Given the description of an element on the screen output the (x, y) to click on. 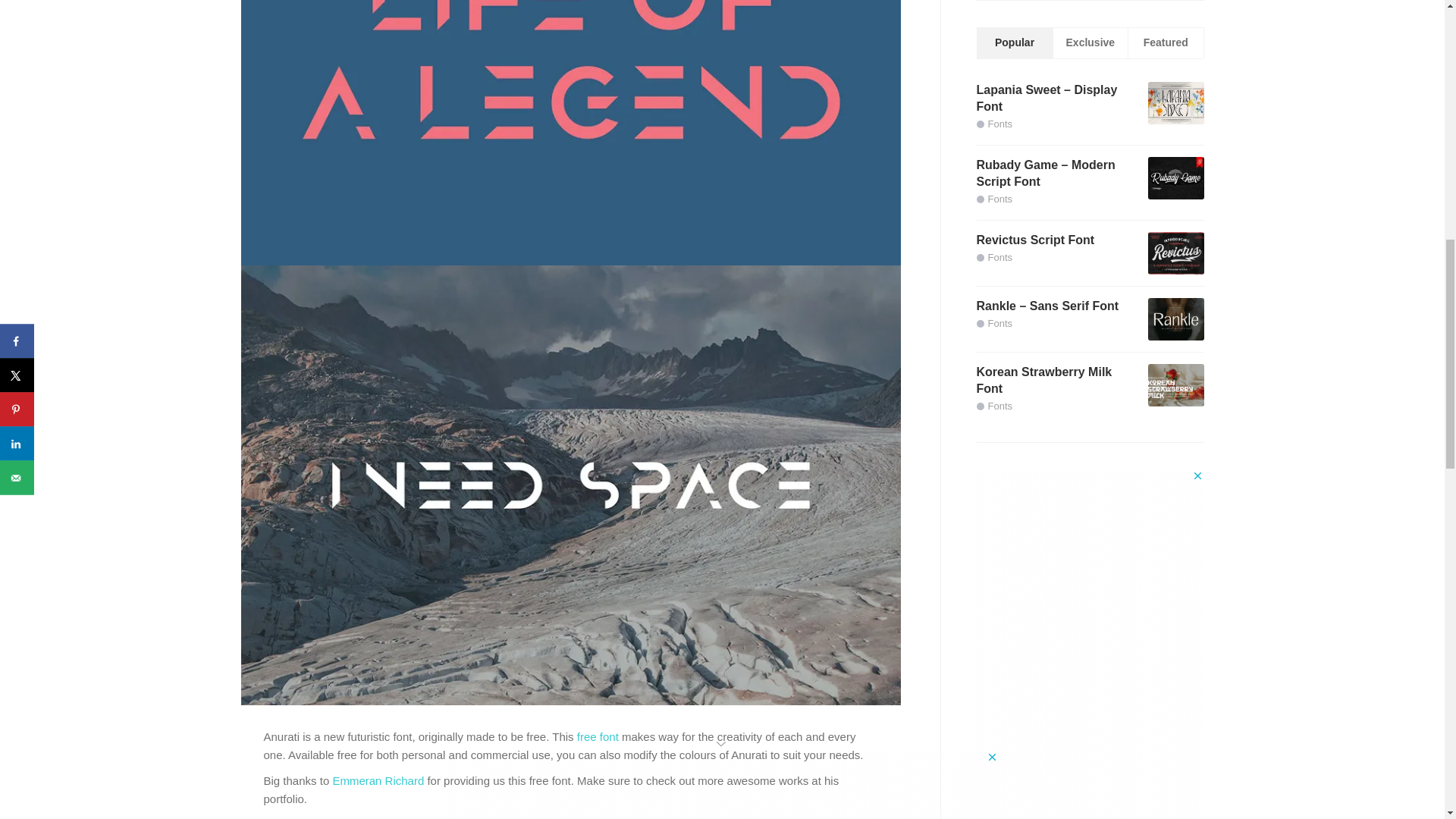
free font (597, 736)
Fonts (994, 123)
Emmeran Richard (378, 780)
Fonts (994, 405)
Fonts (994, 256)
Fonts (994, 323)
Fonts (994, 198)
